Given the description of an element on the screen output the (x, y) to click on. 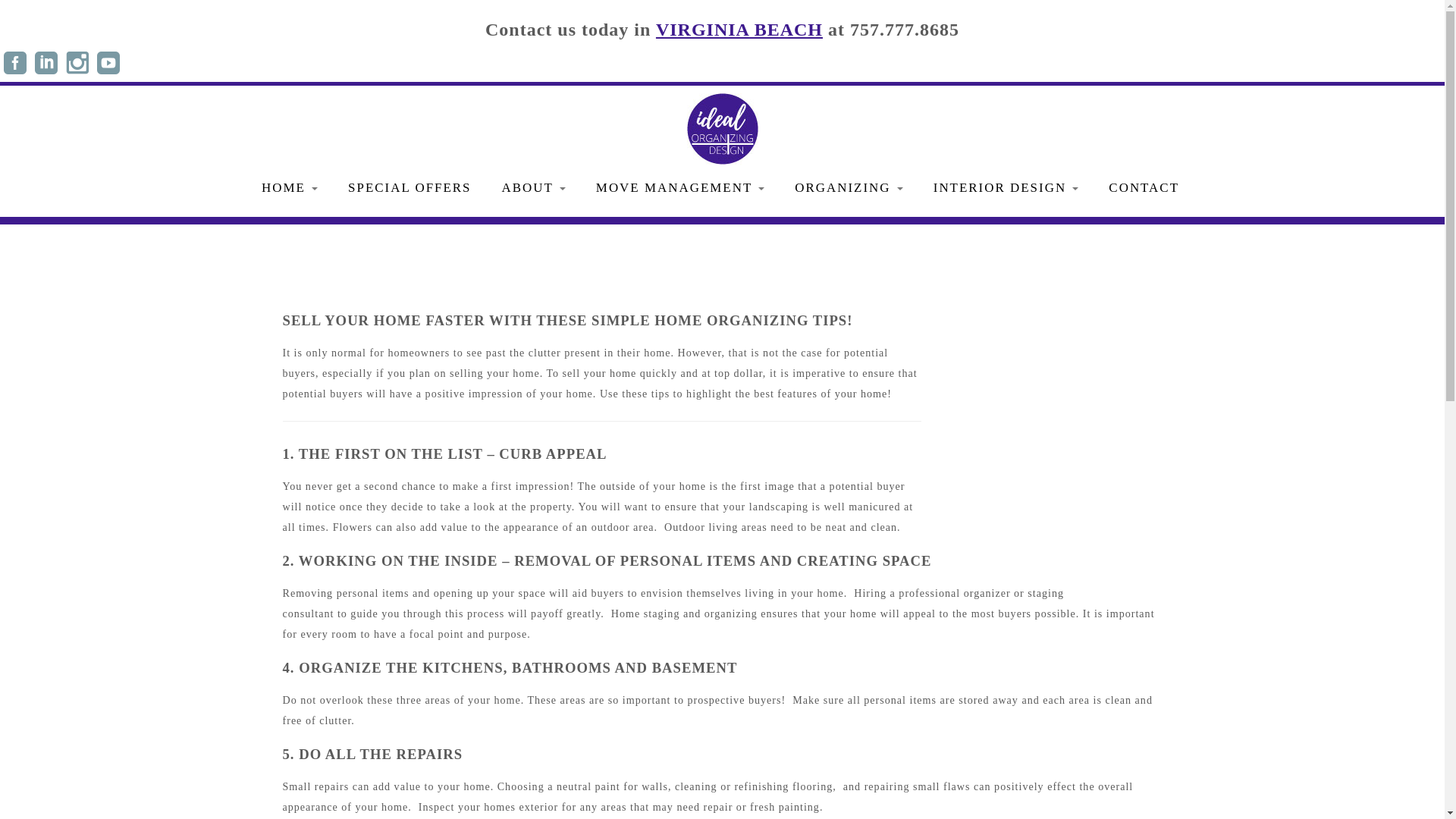
MOVE MANAGEMENT (679, 187)
VIRGINIA BEACH (739, 29)
HOME (289, 187)
INTERIOR DESIGN (1006, 187)
SPECIAL OFFERS (409, 187)
ORGANIZING (848, 187)
CONTACT (1143, 187)
ABOUT (533, 187)
